Given the description of an element on the screen output the (x, y) to click on. 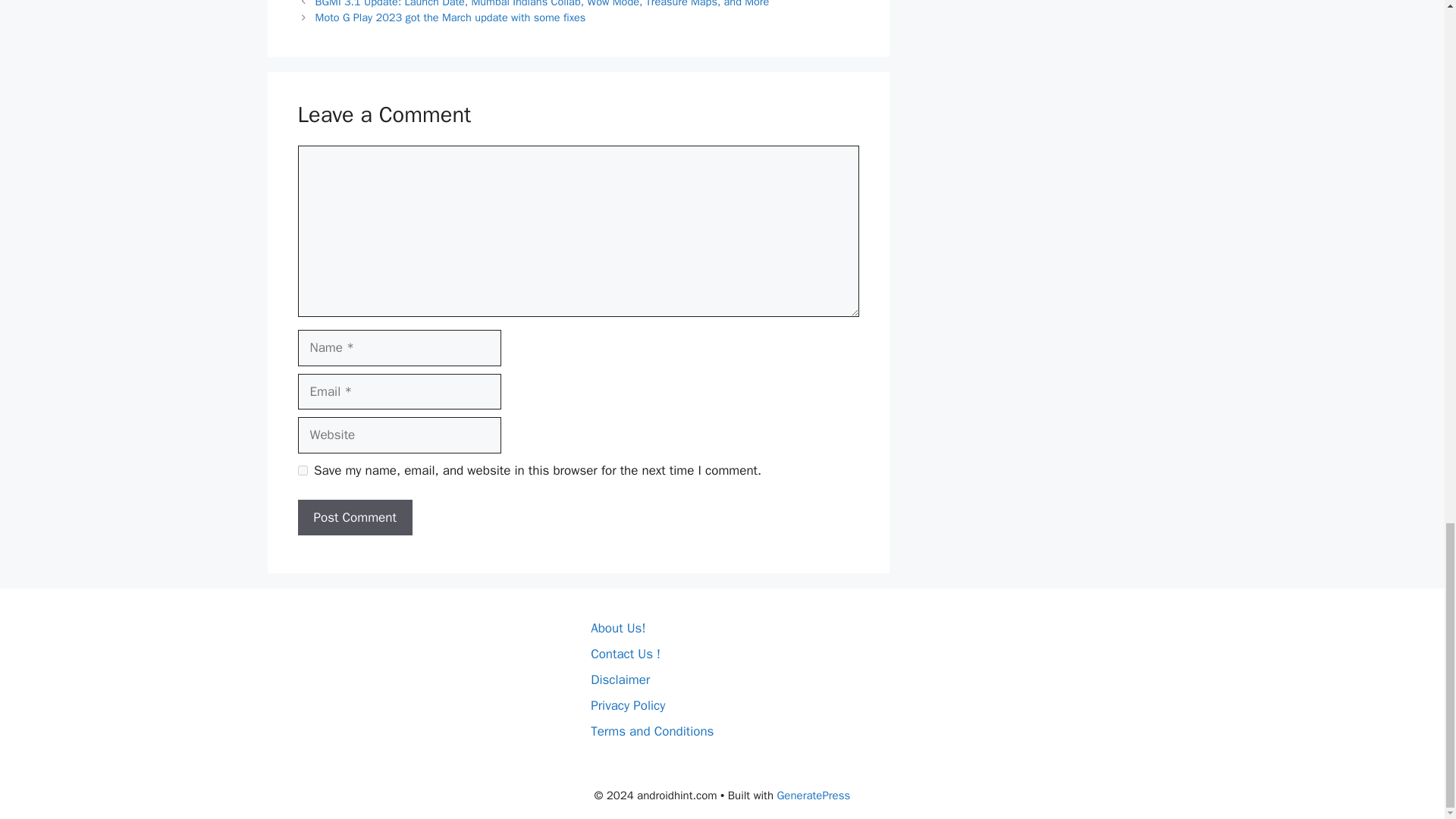
yes (302, 470)
Post Comment (354, 517)
Contact Us ! (626, 653)
GeneratePress (813, 795)
About Us! (618, 627)
Terms and Conditions (652, 731)
Moto G Play 2023 got the March update with some fixes (450, 17)
Privacy Policy (628, 705)
Disclaimer (620, 679)
Post Comment (354, 517)
